Given the description of an element on the screen output the (x, y) to click on. 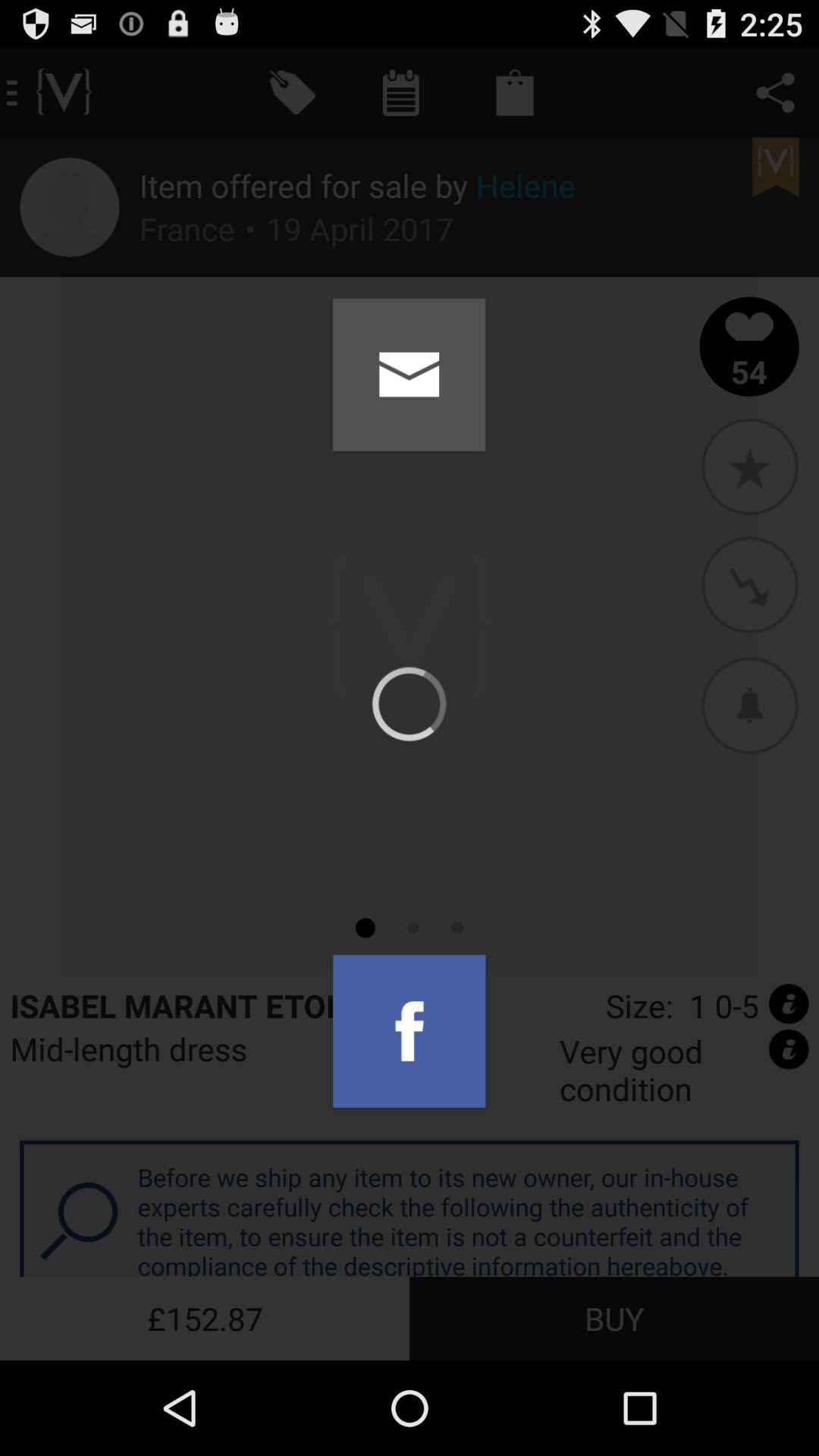
launch icon next to the item offered for icon (69, 207)
